Given the description of an element on the screen output the (x, y) to click on. 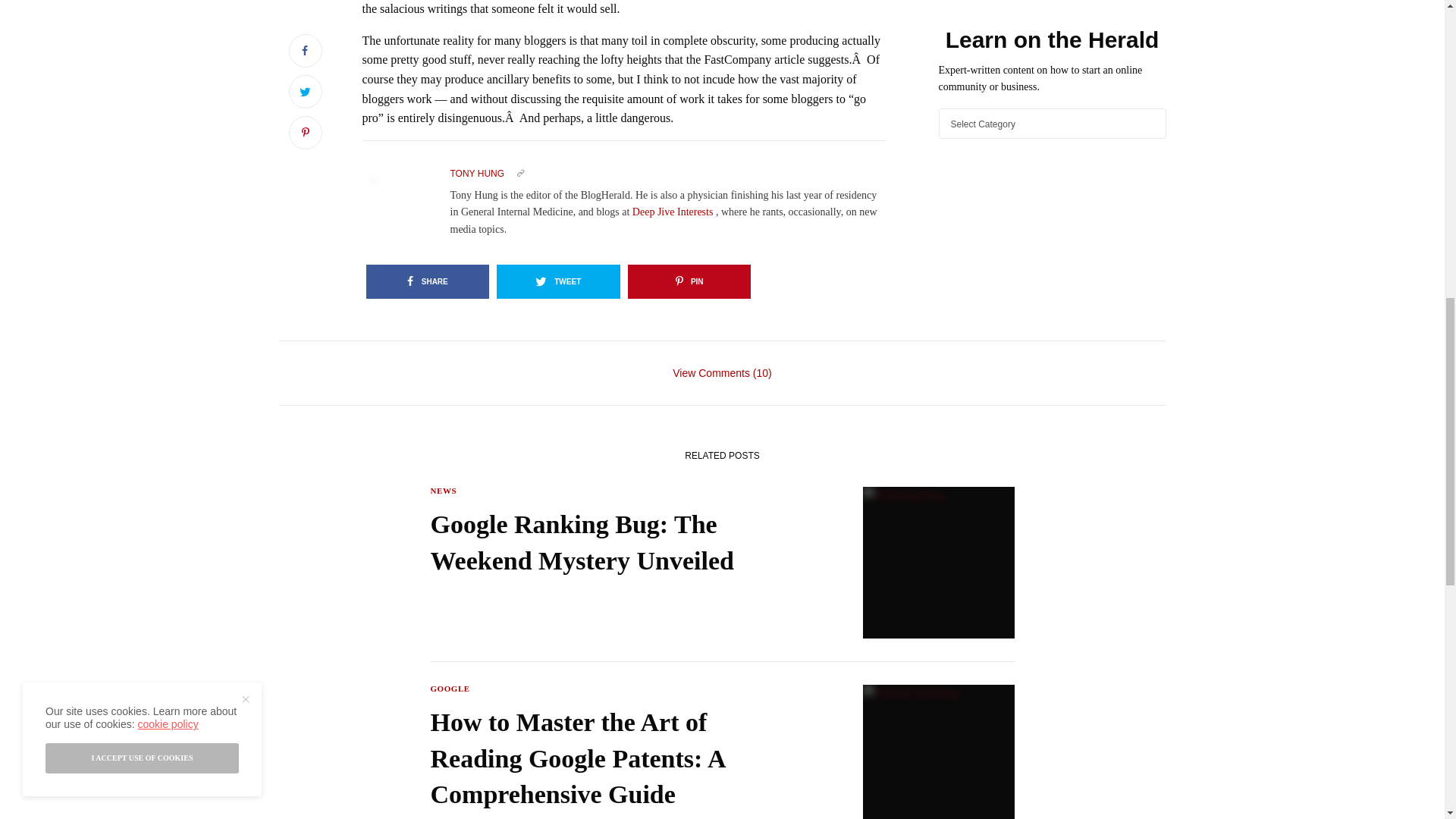
PIN (689, 281)
TONY HUNG (477, 173)
Deep Jive Interests (673, 211)
SHARE (427, 281)
Google Ranking Bug: The Weekend Mystery Unveiled (617, 542)
TWEET (558, 281)
